Given the description of an element on the screen output the (x, y) to click on. 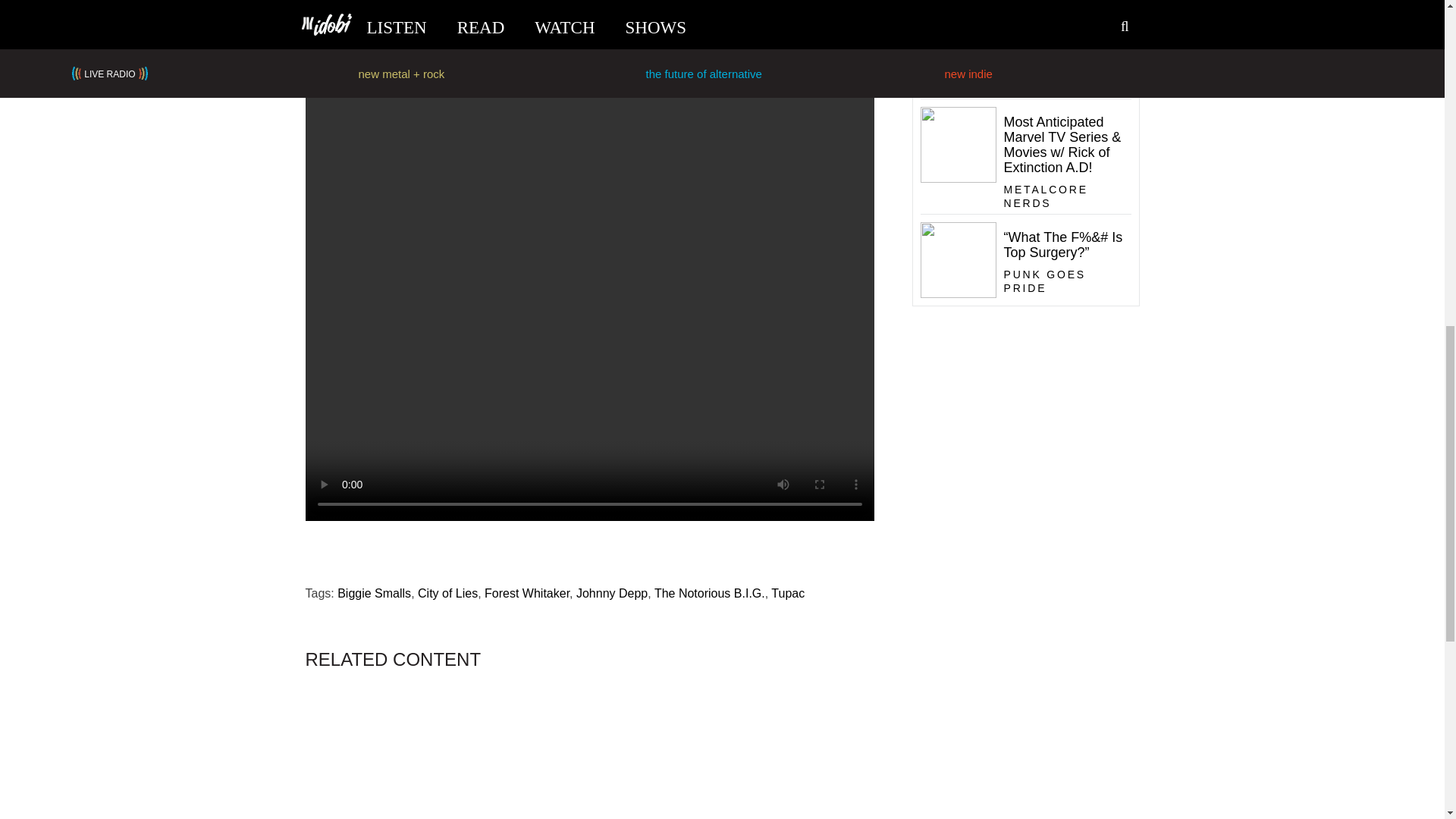
Johnny Depp (611, 593)
Forest Whitaker (526, 593)
City of Lies (447, 593)
Biggie Smalls (373, 593)
The Notorious B.I.G. (709, 593)
Tupac (788, 593)
